Given the description of an element on the screen output the (x, y) to click on. 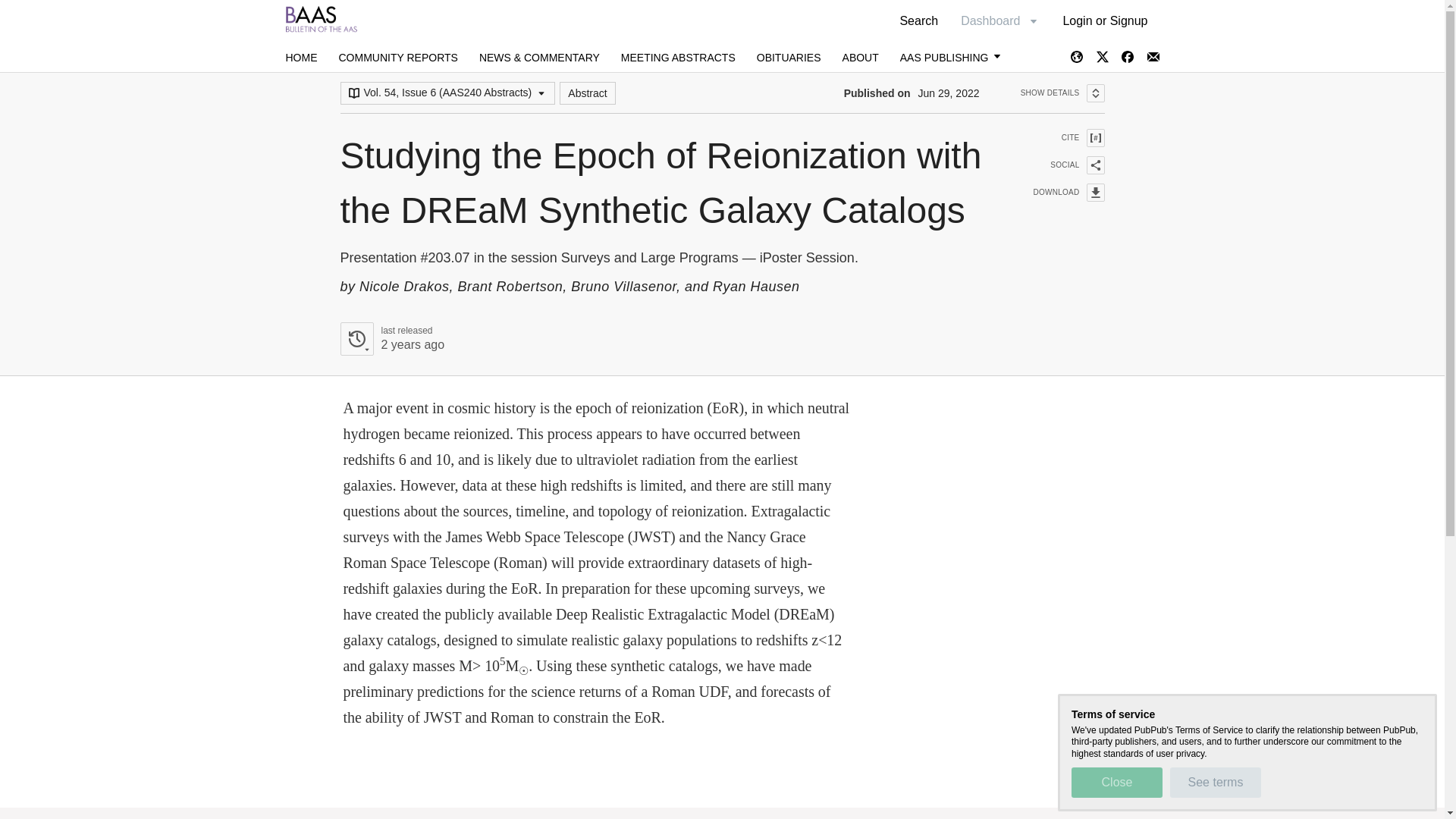
SOCIAL (1058, 165)
Close (1116, 782)
Login or Signup (1104, 20)
2022-06-30 02:17 (412, 344)
Dashboard (1000, 20)
Search (918, 20)
CITE (1058, 137)
ABOUT (861, 57)
COMMUNITY REPORTS (397, 57)
HOME (391, 338)
See terms (301, 57)
Abstract (1215, 782)
DOWNLOAD (586, 92)
MEETING ABSTRACTS (1058, 192)
